Given the description of an element on the screen output the (x, y) to click on. 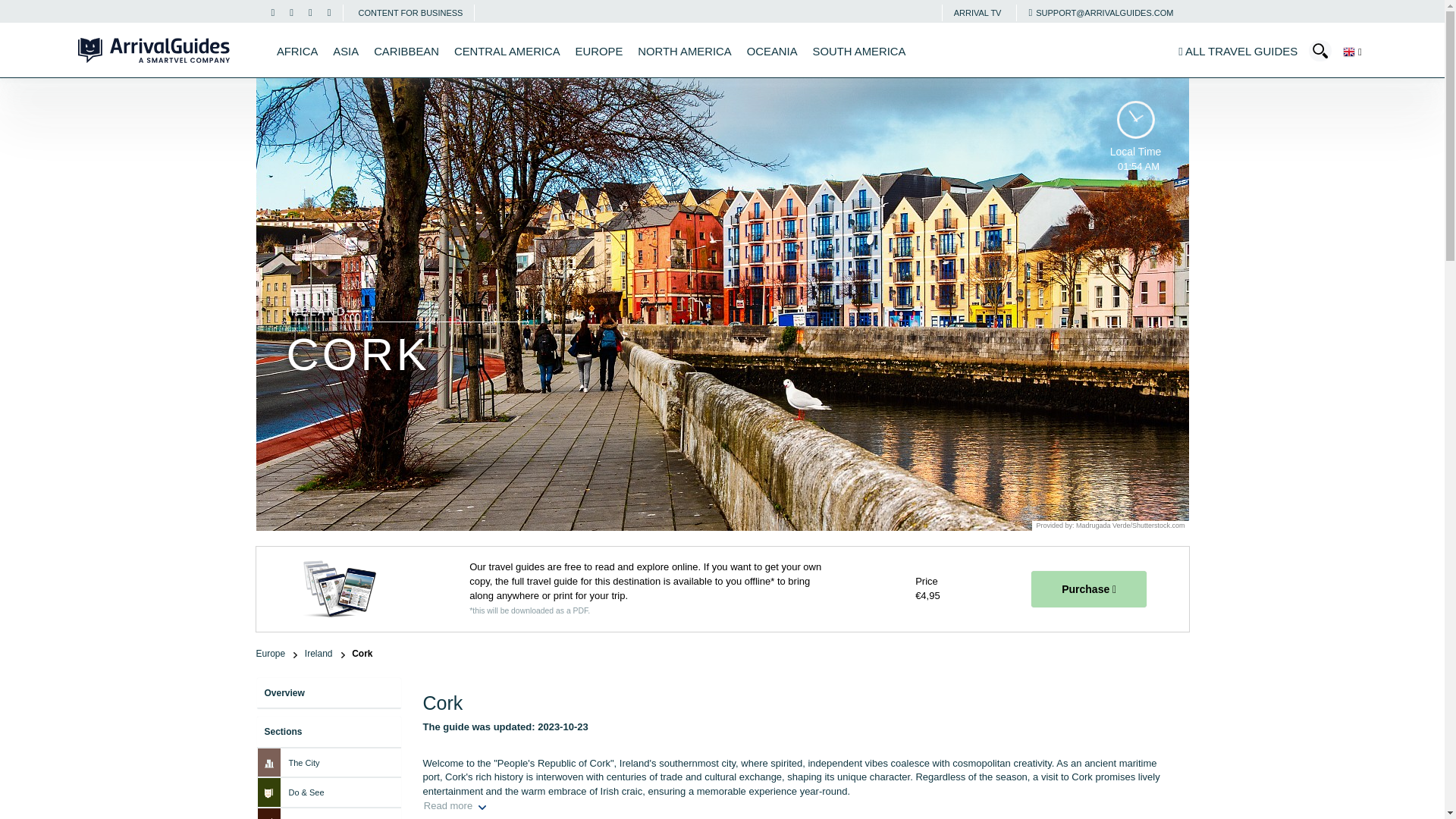
ARRIVAL TV (977, 12)
CONTENT FOR BUSINESS (410, 12)
Ireland (324, 653)
Arrival TV (977, 12)
ASIA (345, 51)
For business (410, 12)
Info (1100, 12)
AFRICA (296, 51)
Europe (277, 653)
01:54 AM (1135, 121)
